Given the description of an element on the screen output the (x, y) to click on. 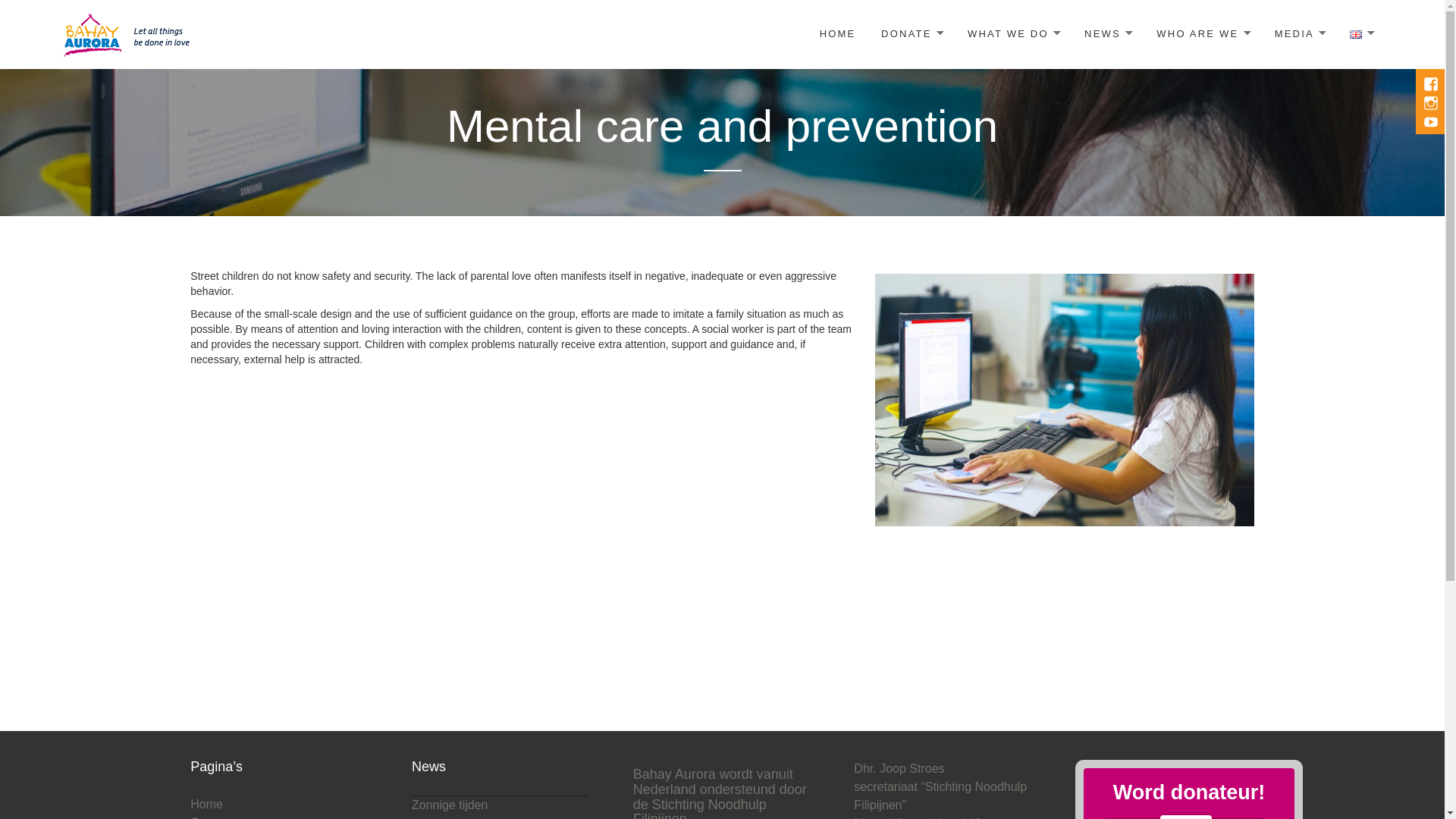
HOME (837, 34)
Welkom op de website van Bahay Aurora! (128, 33)
NEWS (1107, 34)
MEDIA (1299, 34)
Skip to content (458, 22)
DONATE (911, 34)
SKIP TO CONTENT (458, 22)
Contact (210, 817)
WHAT WE DO (1013, 34)
Home (206, 804)
WHO ARE WE (1202, 34)
